Given the description of an element on the screen output the (x, y) to click on. 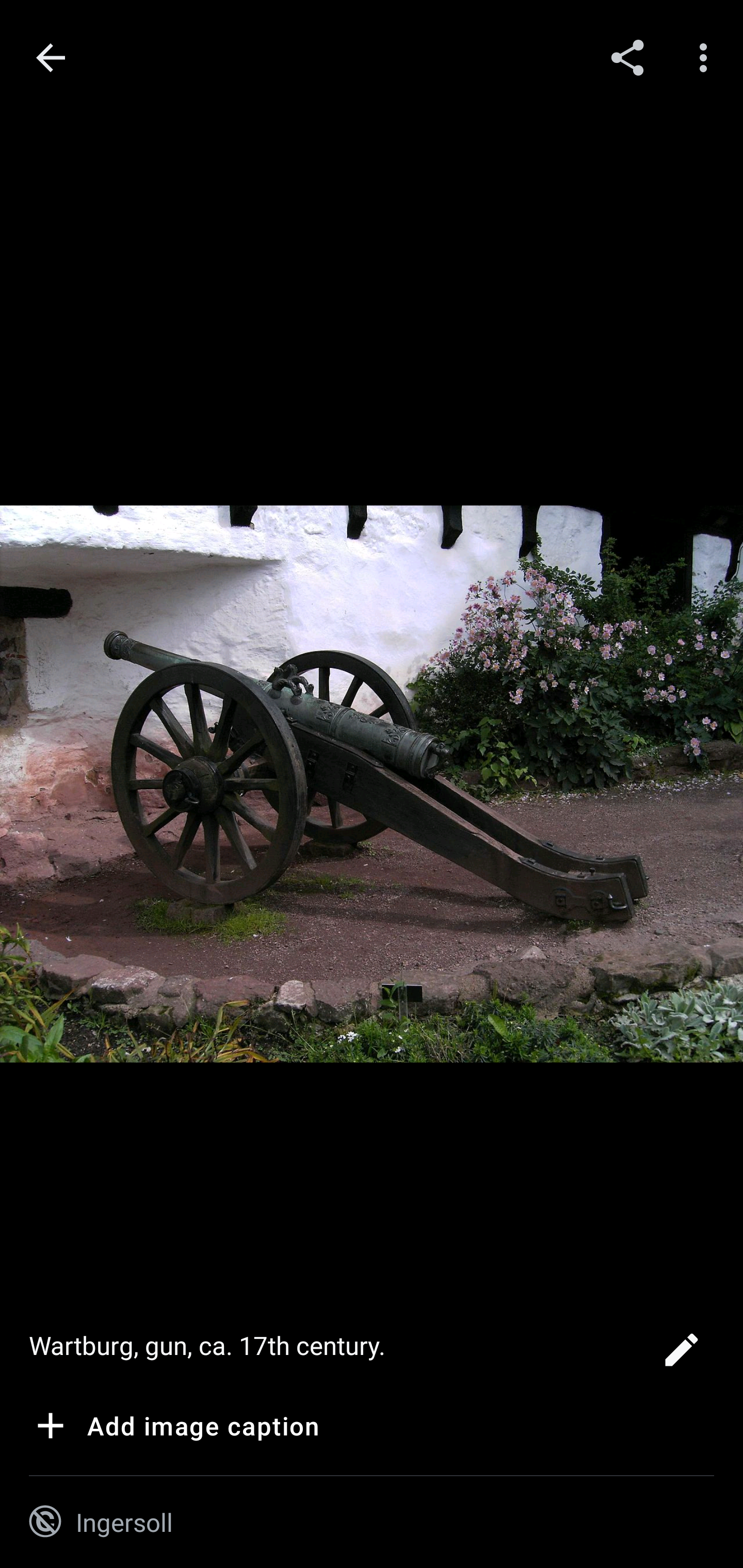
Navigate up (50, 57)
Share (626, 57)
More options (706, 57)
Edit image caption (681, 1355)
Add image caption (174, 1428)
Public domain (44, 1521)
